Given the description of an element on the screen output the (x, y) to click on. 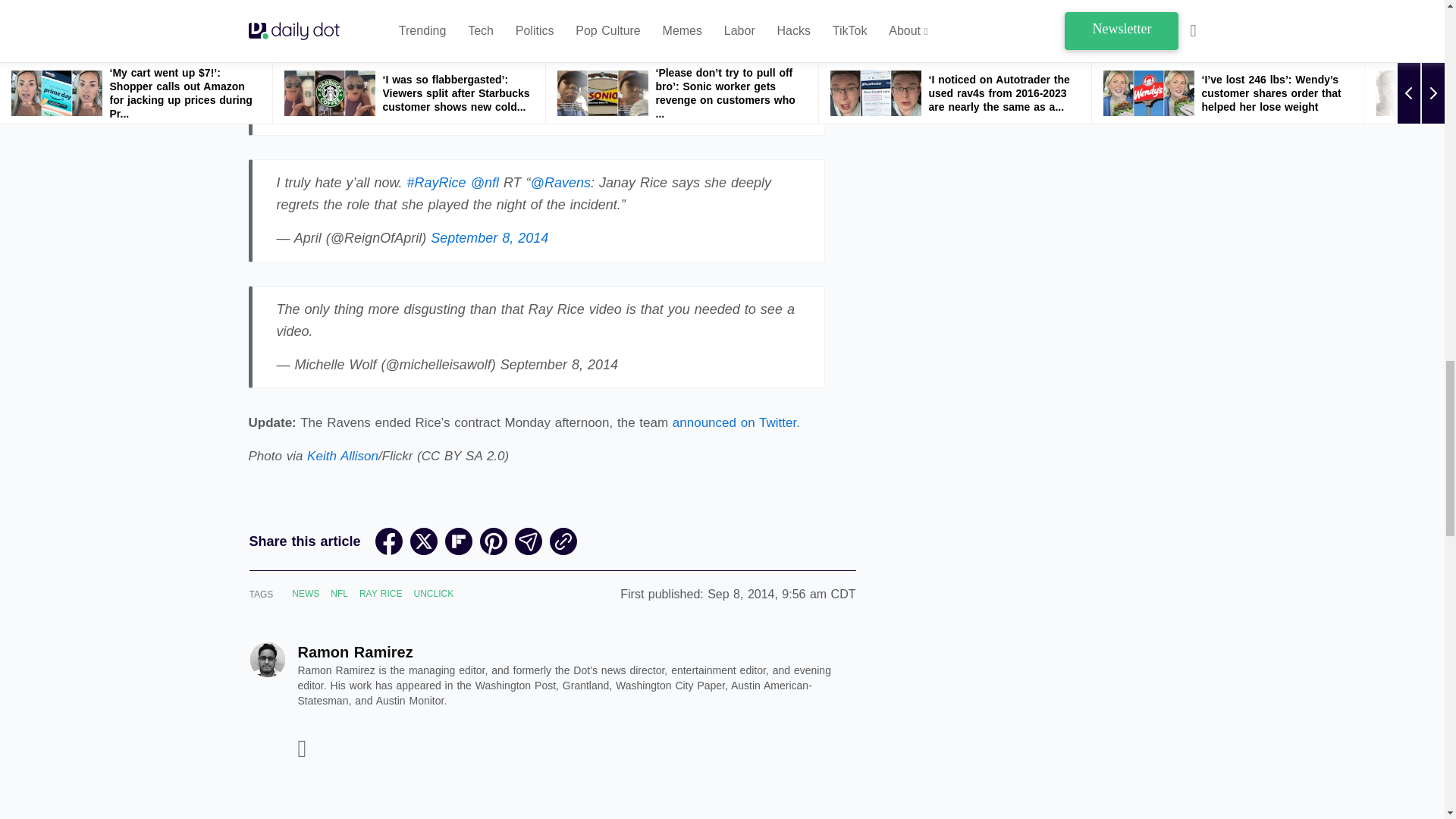
ad content (551, 798)
